Given the description of an element on the screen output the (x, y) to click on. 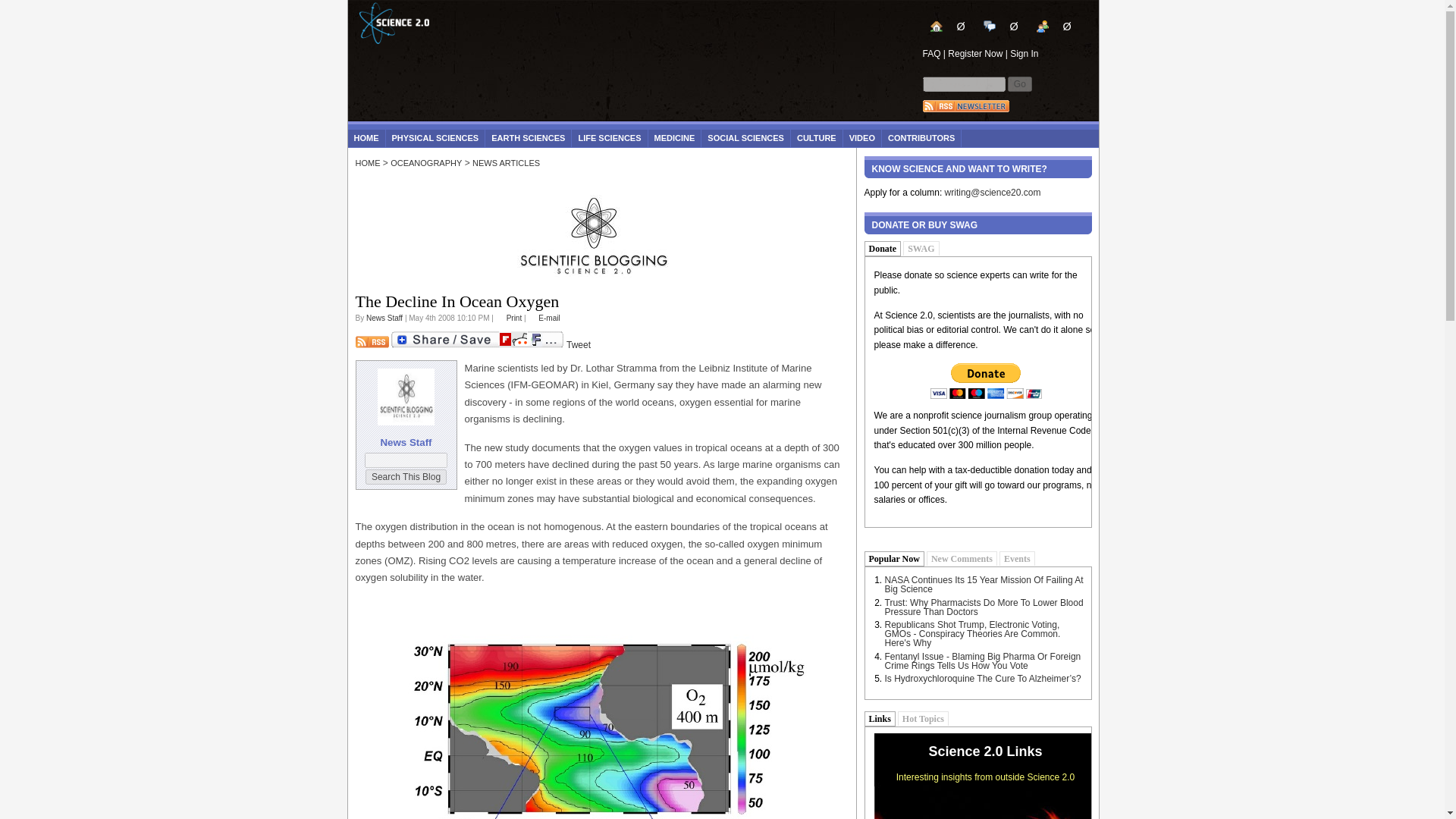
EARTH SCIENCES (527, 138)
Enter the terms you wish to search for. (962, 83)
Search This Blog (405, 476)
PayPal - The safer, easier way to pay online! (986, 380)
Go (1019, 83)
Sign in and see comments by people on your friends list... (1054, 26)
View user profile. (384, 317)
HOME (365, 138)
PHYSICAL SCIENCES (434, 138)
LIFE SCIENCES (609, 138)
MEDICINE (674, 138)
Go (1019, 83)
FAQ (930, 53)
